Given the description of an element on the screen output the (x, y) to click on. 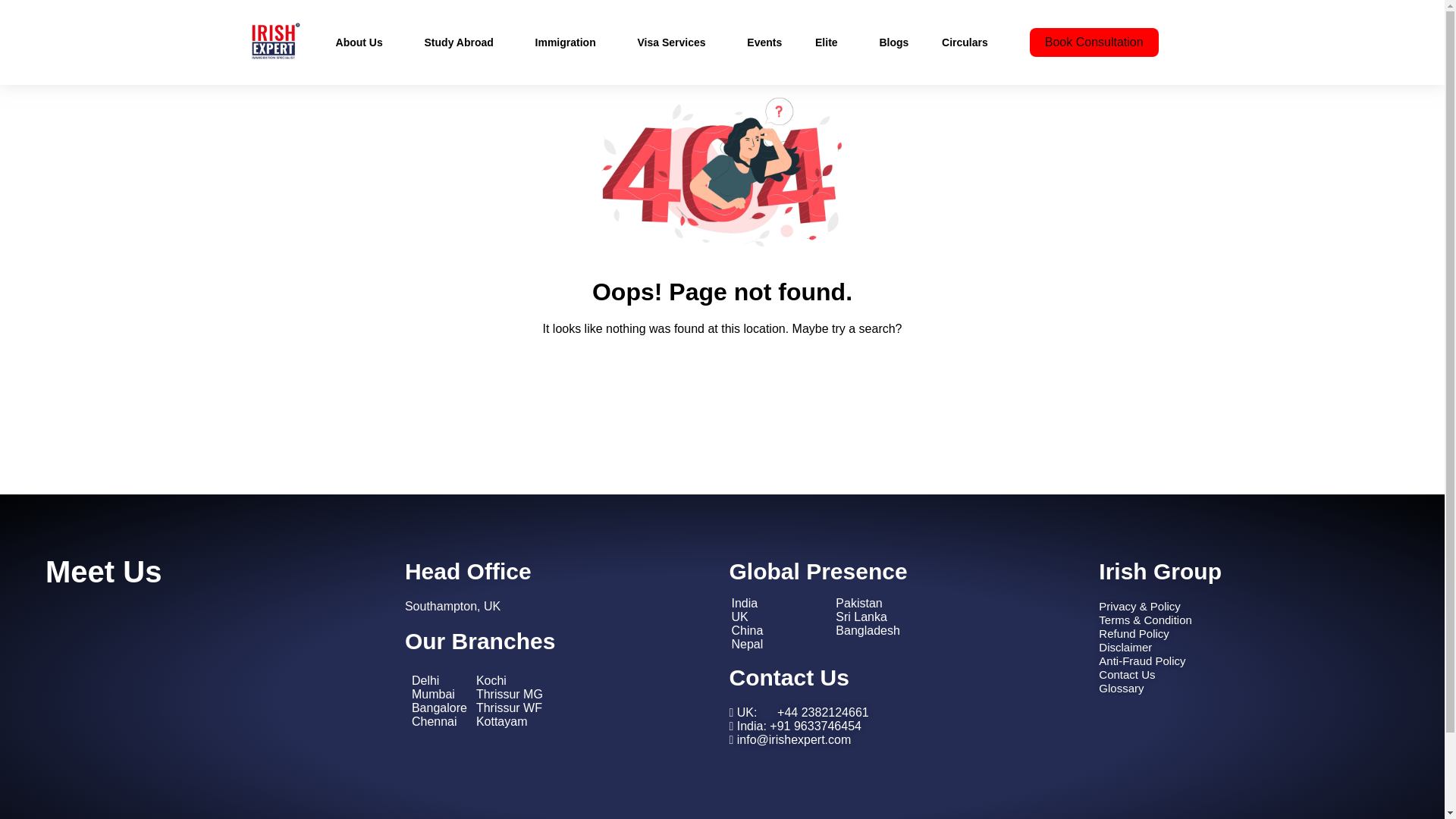
Irish Expert -Overseas (208, 695)
Elite (830, 42)
Events (764, 42)
Kottayam (501, 721)
Visa Services (675, 42)
Blogs (893, 42)
Sri Lanka (860, 616)
Bangalore (439, 707)
Pakistan (858, 603)
UK (739, 616)
Kochi (491, 680)
China (746, 630)
About Us (363, 42)
India (743, 603)
Study Abroad (463, 42)
